Given the description of an element on the screen output the (x, y) to click on. 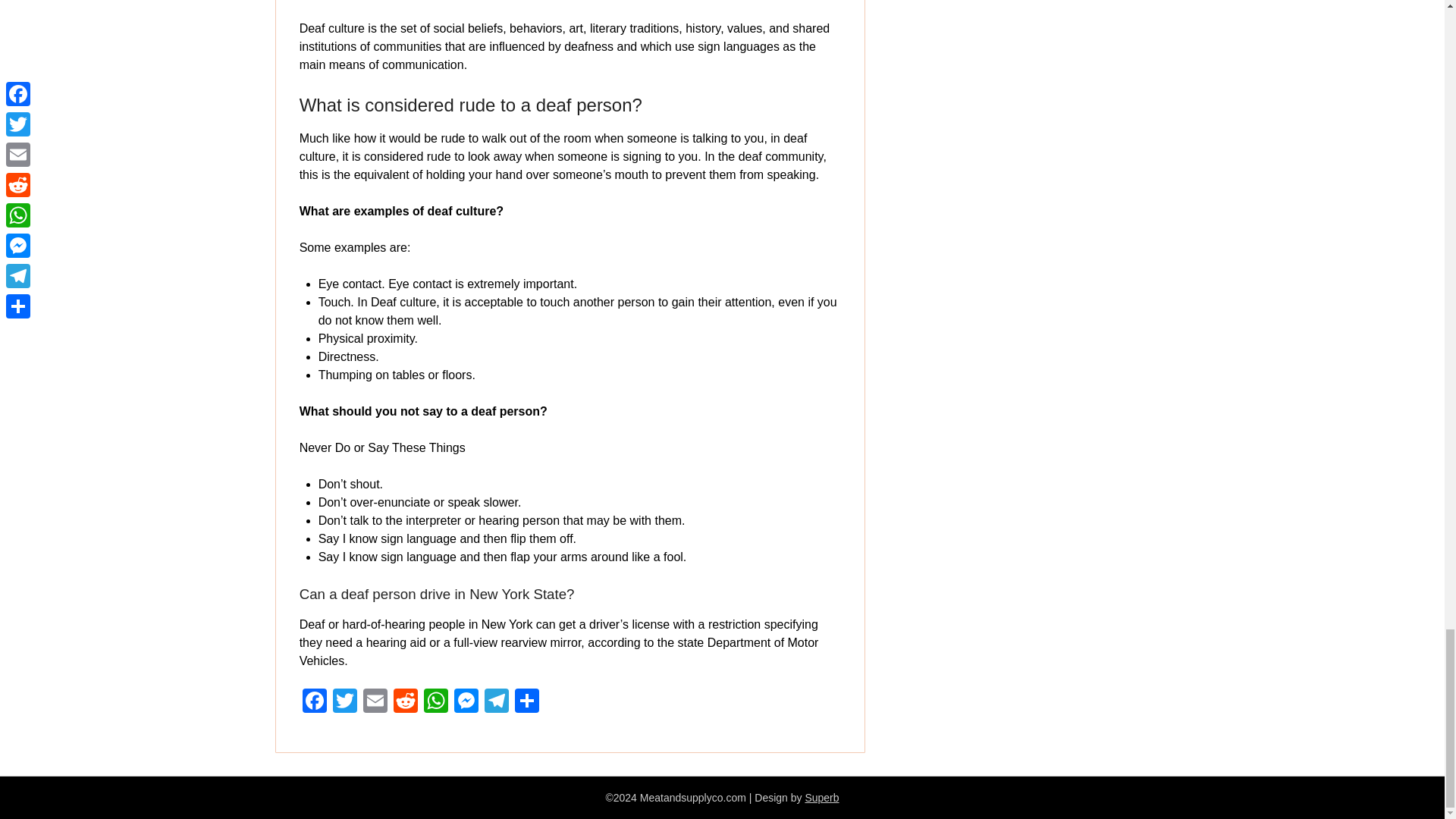
Facebook (314, 702)
Twitter (344, 702)
WhatsApp (435, 702)
WhatsApp (435, 702)
Messenger (466, 702)
Email (374, 702)
Reddit (405, 702)
Email (374, 702)
Telegram (496, 702)
Reddit (405, 702)
Twitter (344, 702)
Telegram (496, 702)
Messenger (466, 702)
Superb (821, 797)
Share (526, 702)
